Given the description of an element on the screen output the (x, y) to click on. 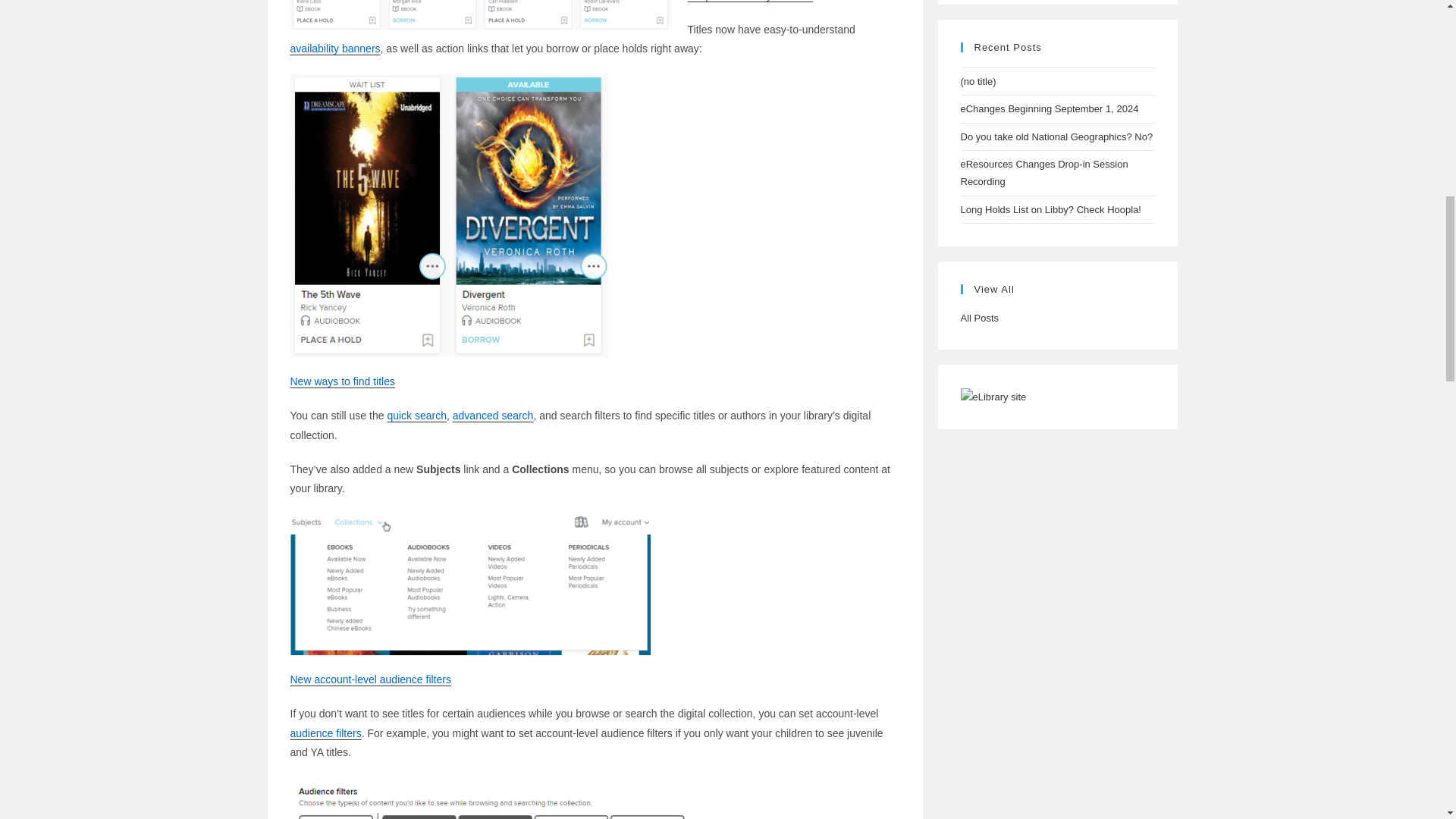
New ways to find titles (341, 381)
New account-level audience filters (369, 679)
advanced search (493, 415)
quick search (416, 415)
availability banners (334, 48)
Simple availability banners (749, 0)
audience filters (325, 733)
